Given the description of an element on the screen output the (x, y) to click on. 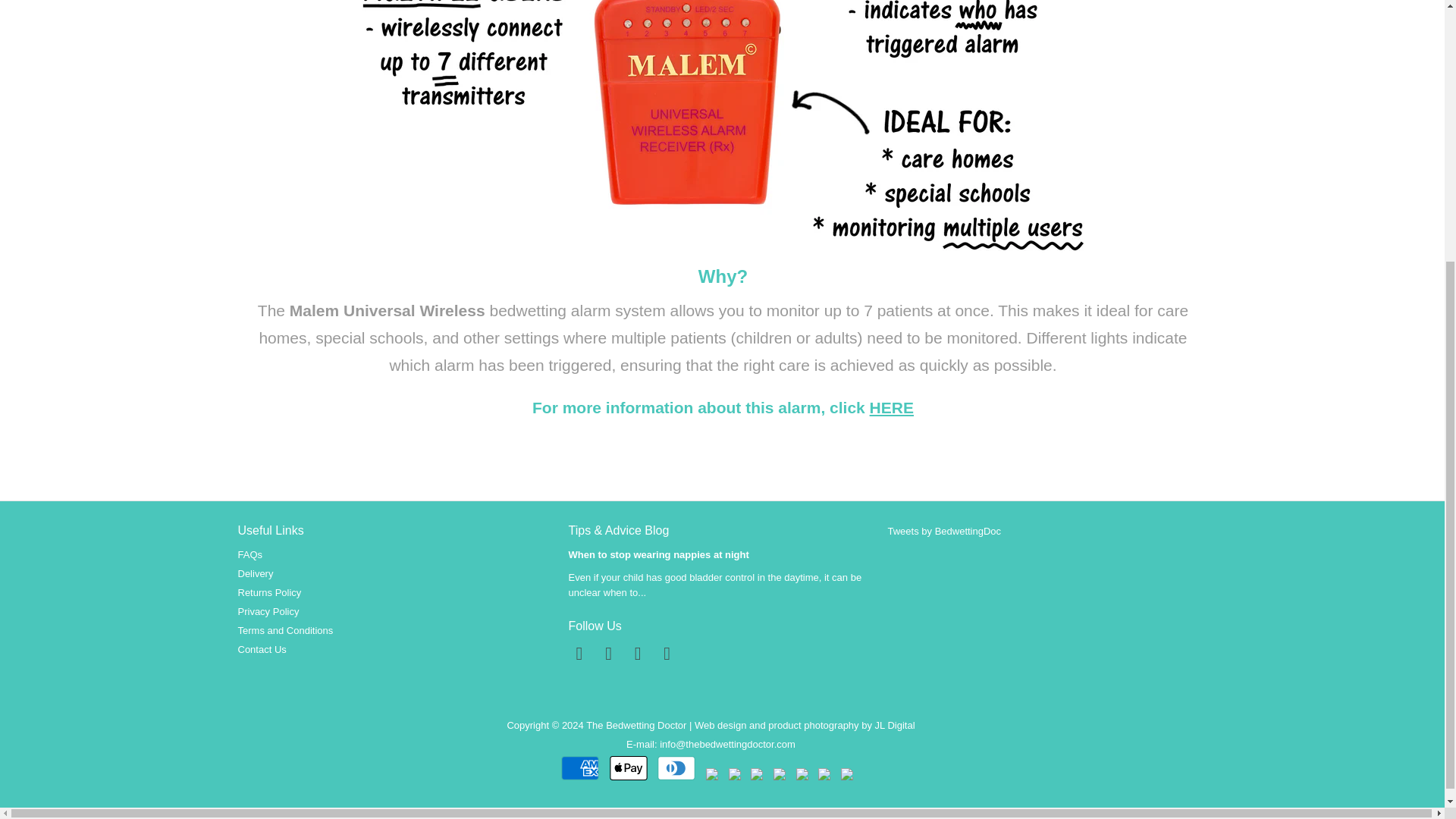
Contact Us (262, 649)
Returns Policy (269, 592)
Delivery (255, 573)
FAQs (250, 554)
Privacy Policy (268, 611)
Terms and Conditions (285, 630)
Malem Universal Wireless Bedwetting Alarm (891, 407)
